Given the description of an element on the screen output the (x, y) to click on. 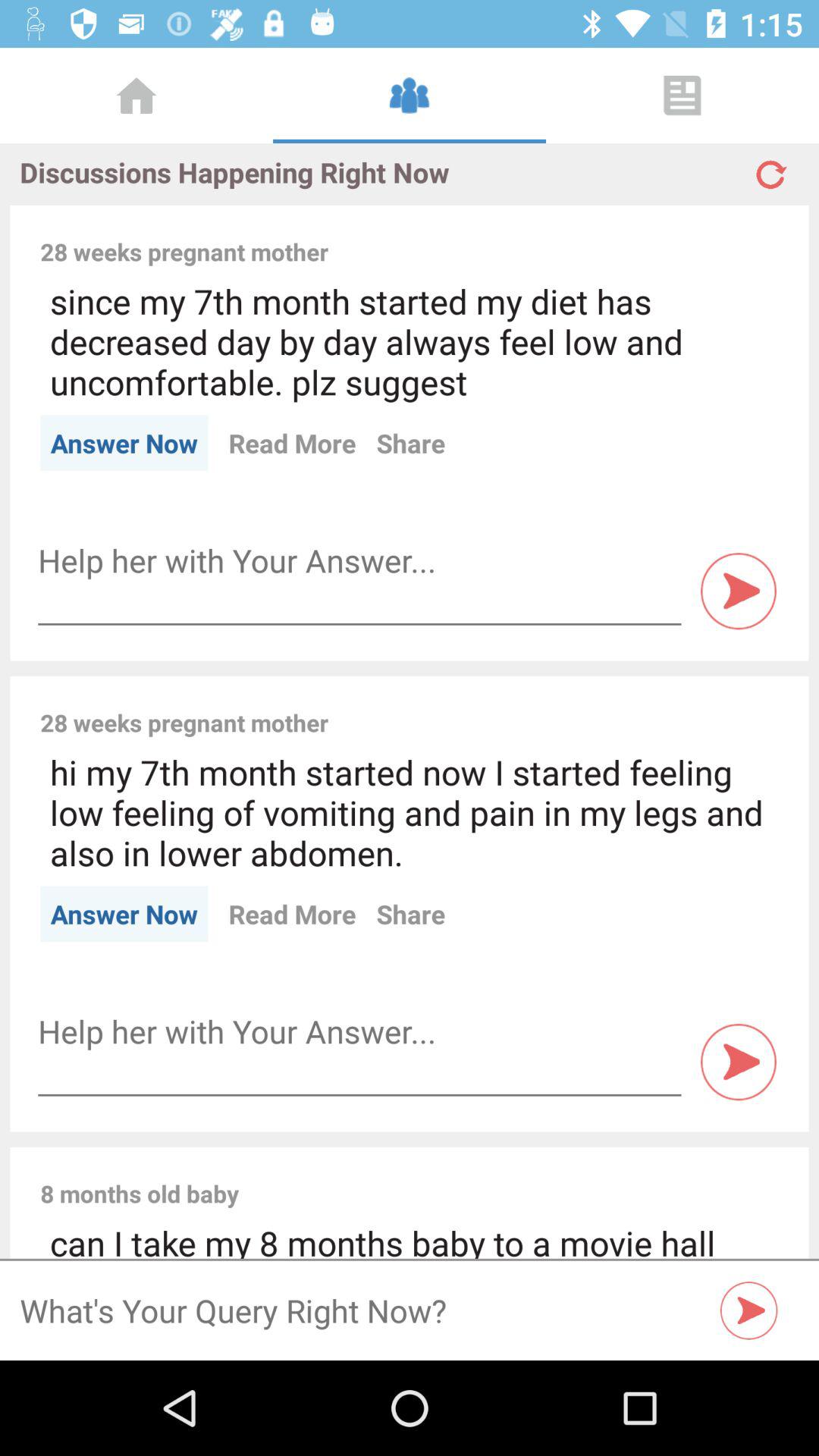
wirte your help answer (359, 1031)
